Given the description of an element on the screen output the (x, y) to click on. 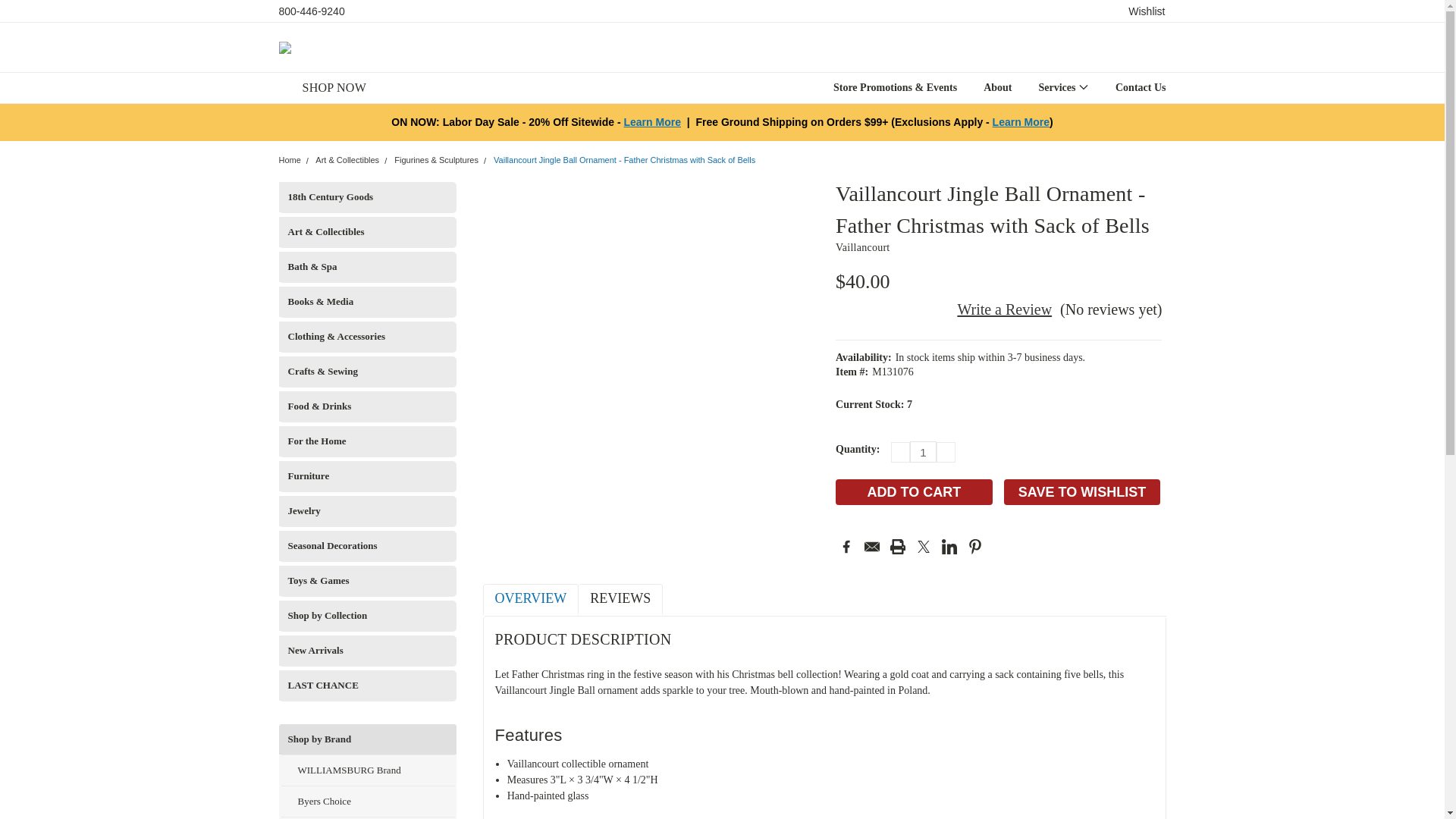
Facebook (845, 546)
Add to Cart (913, 492)
Print (897, 546)
Twitter (923, 546)
Linkedin (949, 546)
Wishlist (1146, 10)
1 (923, 451)
Email (871, 546)
800-446-9240 (312, 10)
The Shops at Colonial Williamsburg (285, 46)
